Given the description of an element on the screen output the (x, y) to click on. 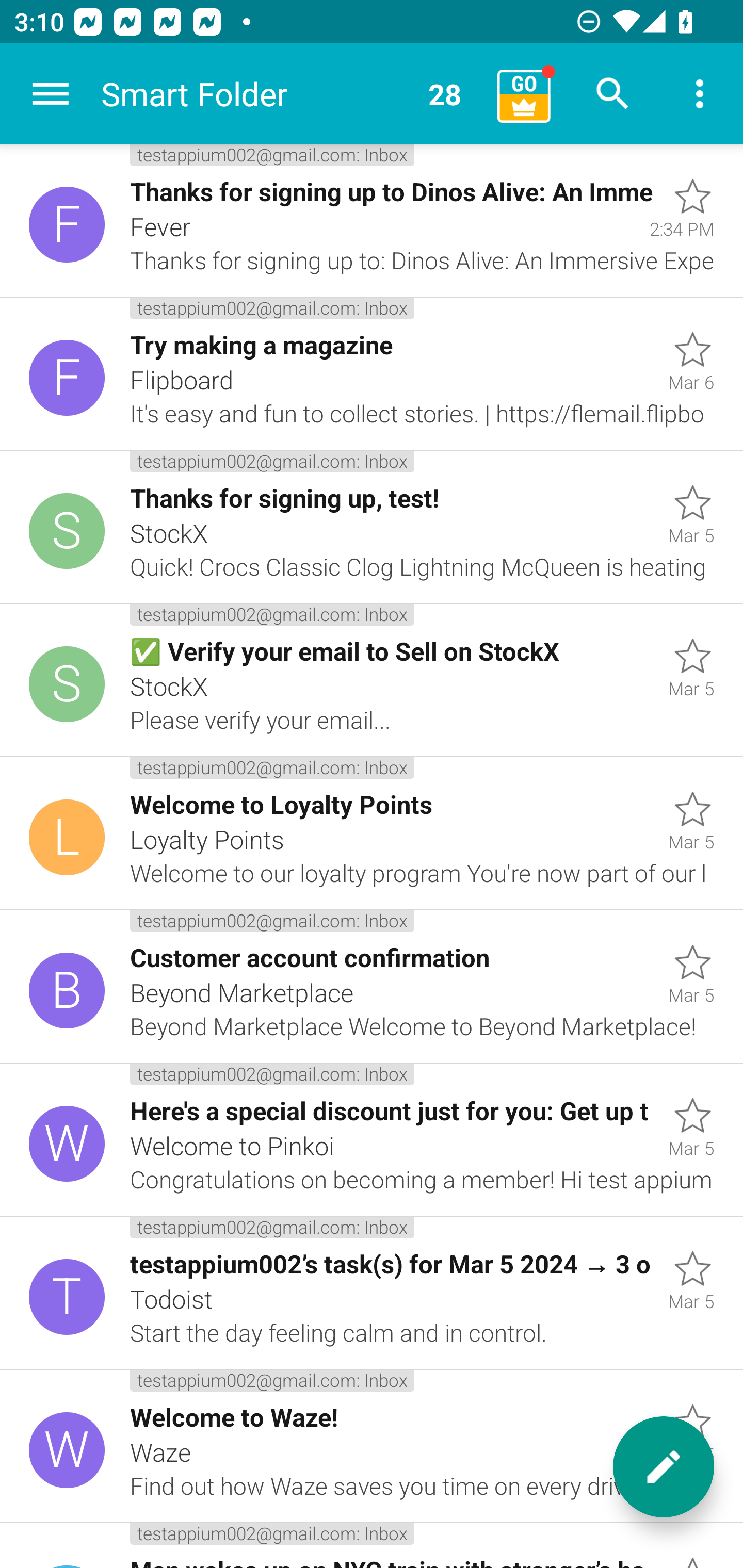
Navigate up (50, 93)
Smart Folder 28 (291, 93)
Search (612, 93)
More options (699, 93)
New message (663, 1466)
